Given the description of an element on the screen output the (x, y) to click on. 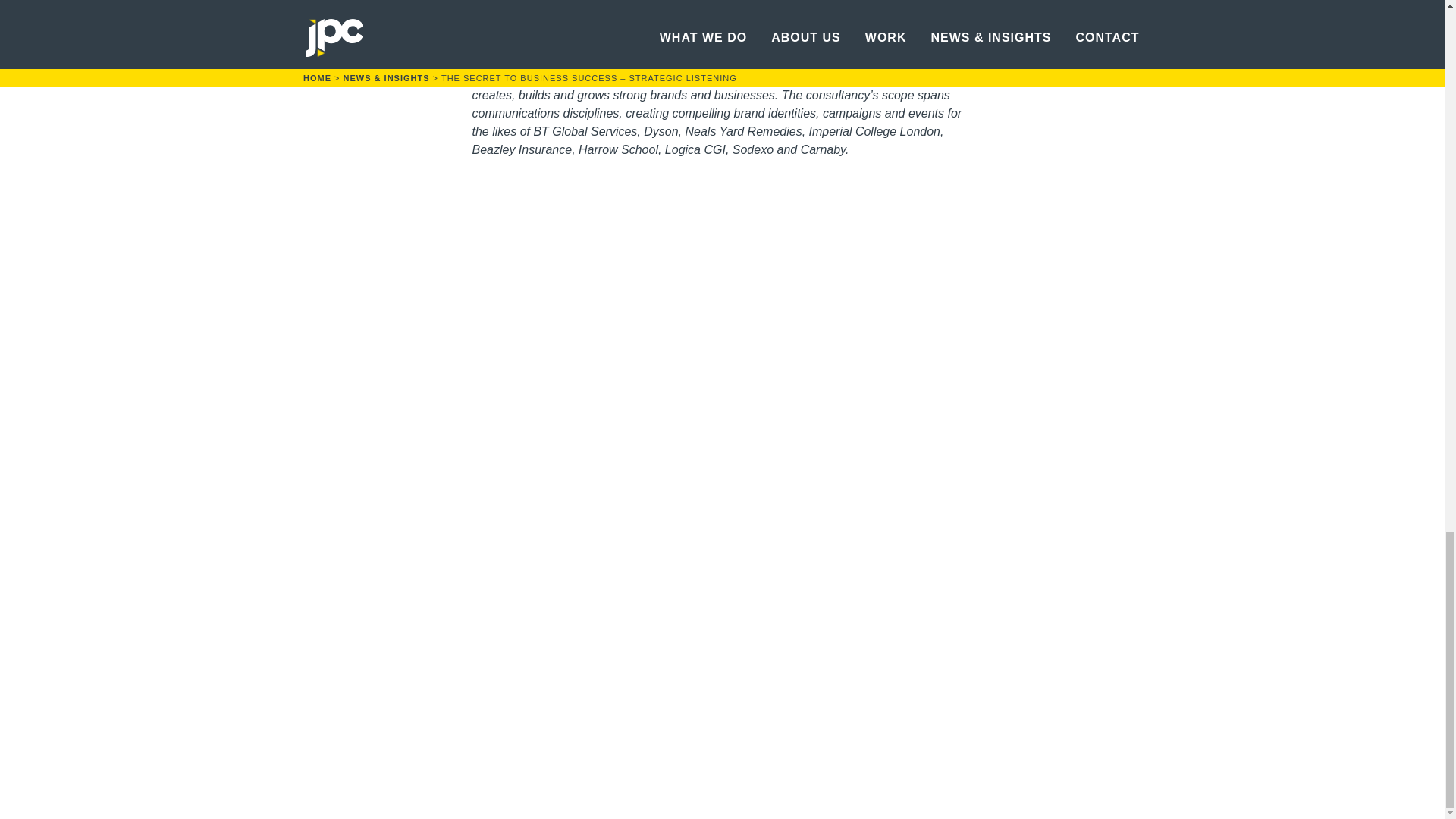
Content (738, 76)
Strategy (688, 76)
Experience (820, 76)
